Given the description of an element on the screen output the (x, y) to click on. 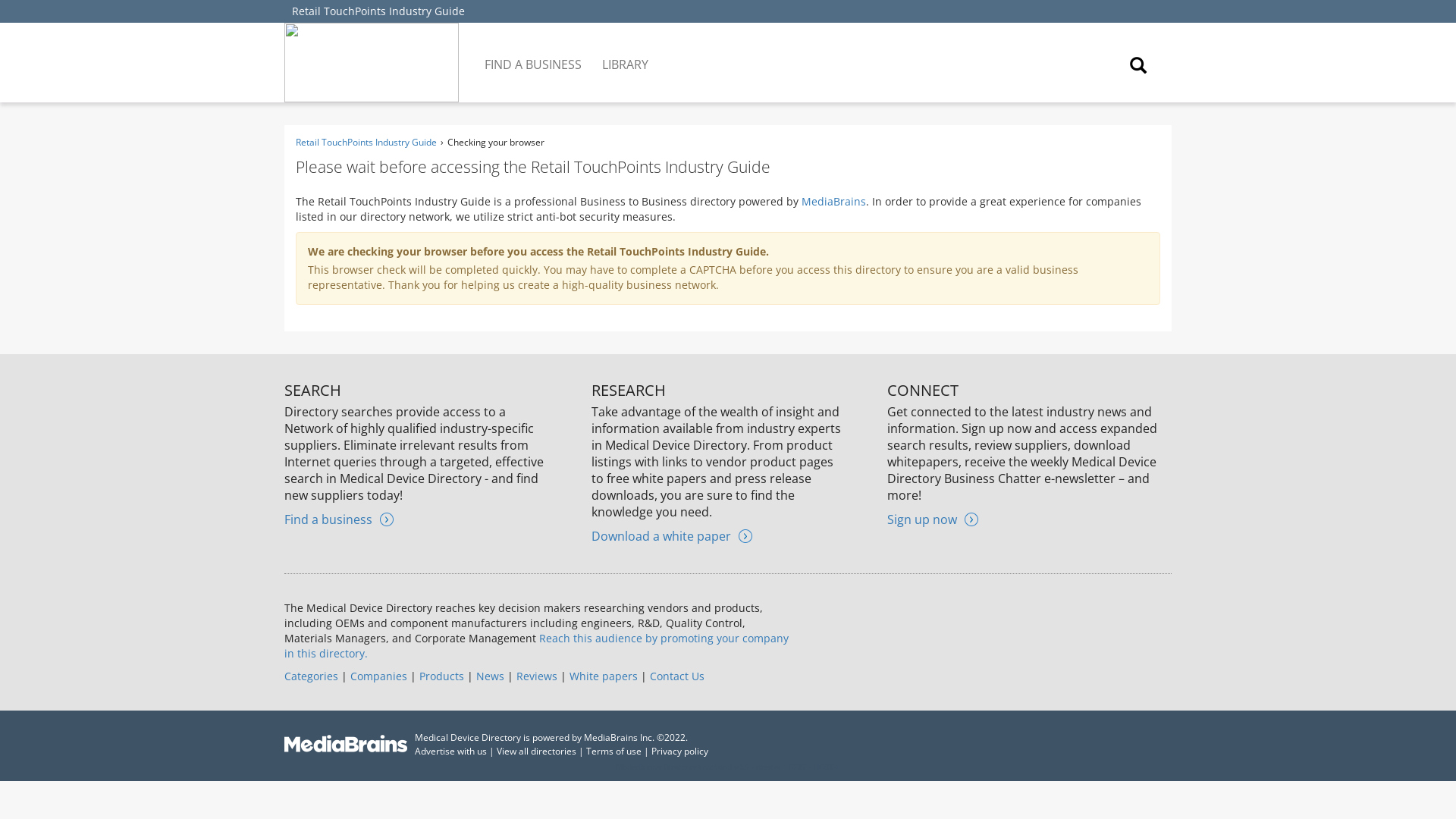
Retail TouchPoints Industry Guide (377, 11)
Find a business (338, 519)
News (489, 676)
Products (441, 676)
FIND A BUSINESS (534, 52)
Retail TouchPoints Industry Guide (365, 141)
LIBRARY (626, 52)
Privacy policy (678, 750)
Advertise with us (450, 750)
Download a white paper (671, 535)
Contact Us (676, 676)
Terms of use (614, 750)
Reviews (536, 676)
Categories (310, 676)
